Given the description of an element on the screen output the (x, y) to click on. 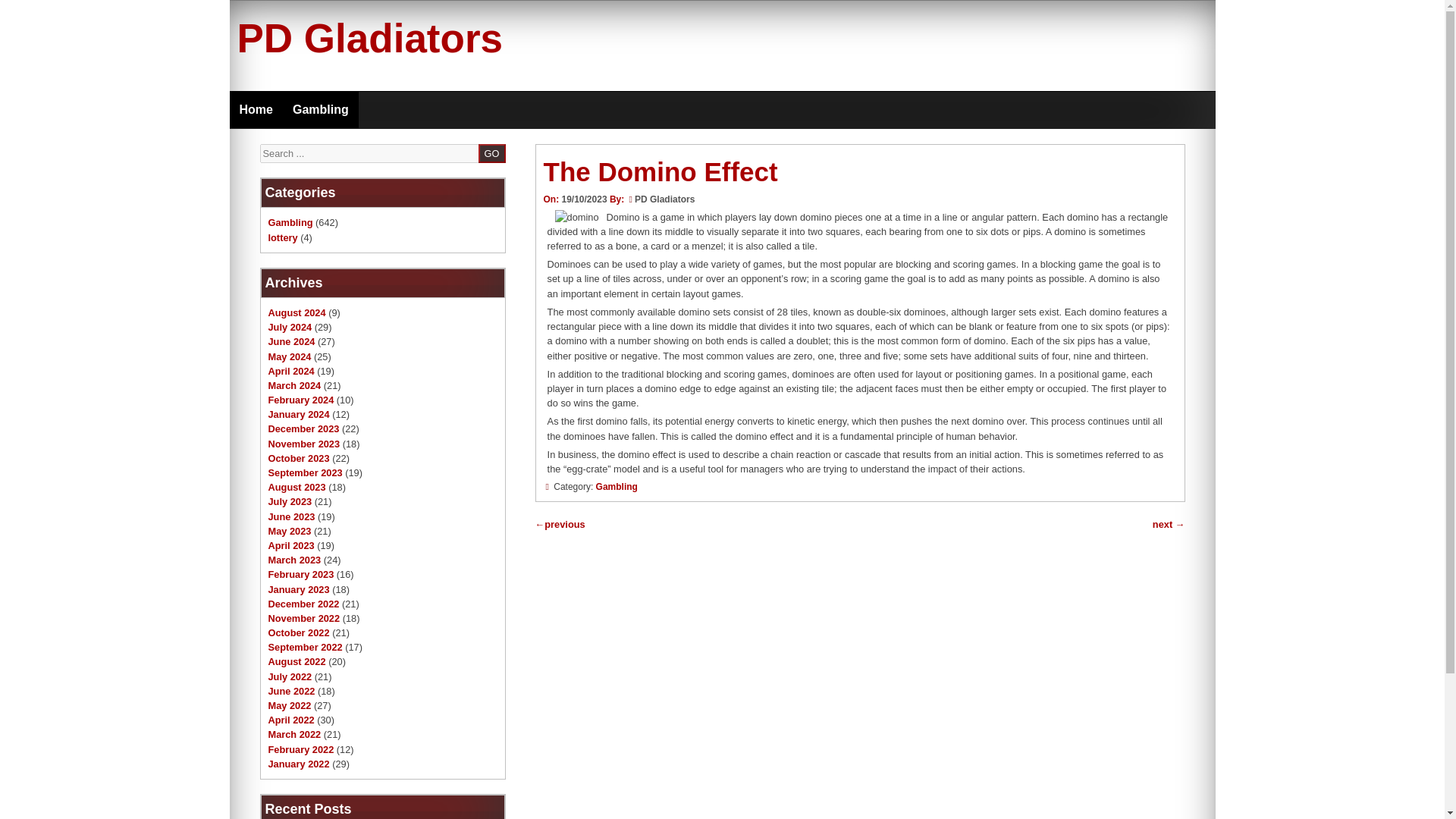
April 2023 (290, 545)
July 2023 (290, 501)
November 2022 (303, 618)
July 2024 (290, 326)
June 2023 (291, 516)
January 2023 (298, 589)
April 2024 (290, 370)
August 2023 (296, 487)
GO (492, 153)
Gambling (320, 109)
